Given the description of an element on the screen output the (x, y) to click on. 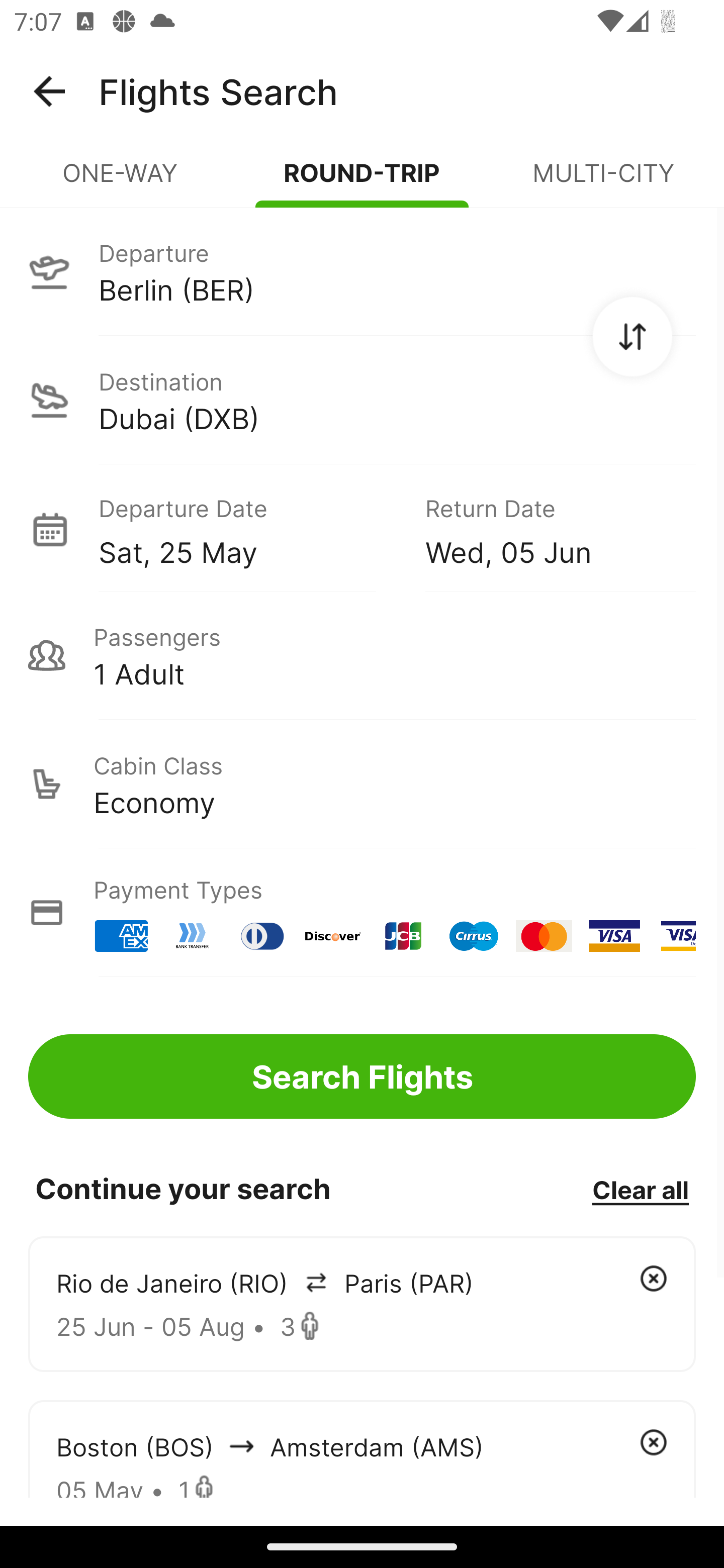
ONE-WAY (120, 180)
ROUND-TRIP (361, 180)
MULTI-CITY (603, 180)
Departure Berlin (BER) (362, 270)
Destination Dubai (DXB) (362, 400)
Departure Date Sat, 25 May (247, 528)
Return Date Wed, 05 Jun (546, 528)
Passengers 1 Adult (362, 655)
Cabin Class Economy (362, 783)
Payment Types (362, 912)
Search Flights (361, 1075)
Clear all (640, 1189)
